Given the description of an element on the screen output the (x, y) to click on. 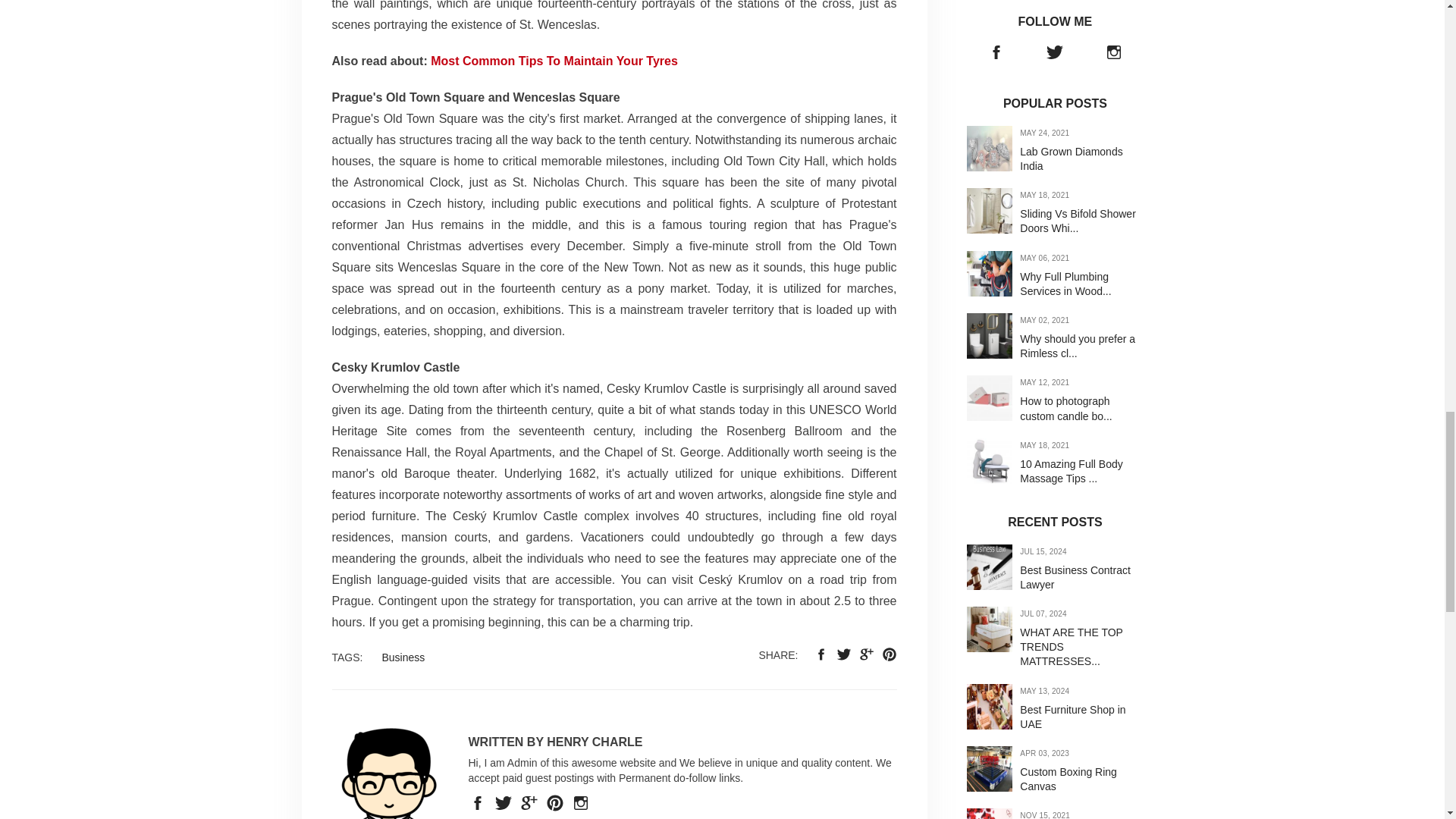
Business (403, 657)
Most Common Tips To Maintain Your Tyres (554, 60)
Most Common Tips To Maintain Your Tyres (554, 60)
Henry Charle author (388, 773)
